Given the description of an element on the screen output the (x, y) to click on. 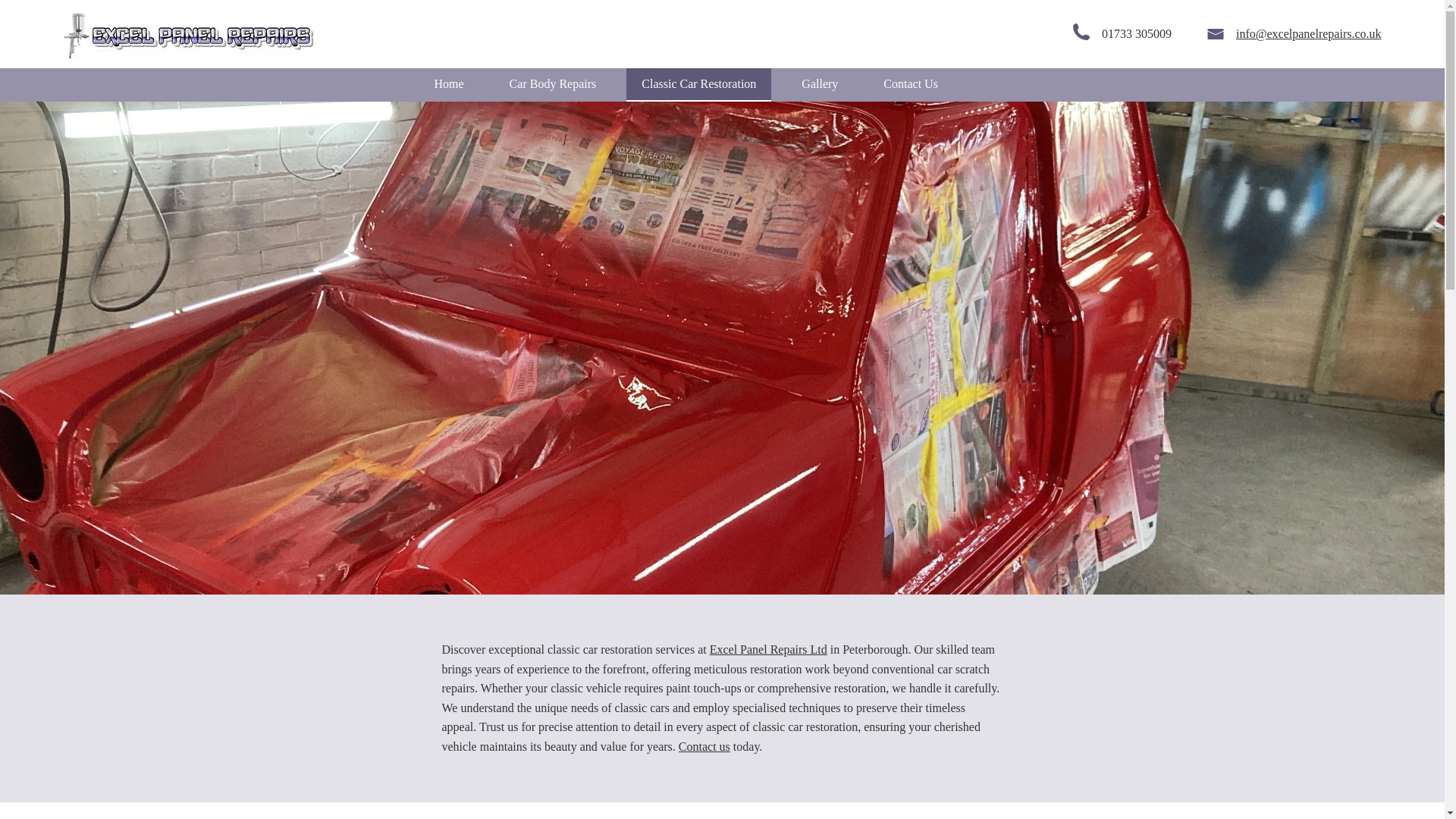
Excel Panel Repairs Ltd (768, 649)
Classic Car Restoration (698, 84)
Car Body Repairs (553, 84)
Gallery (819, 84)
Home (449, 84)
Contact Us (910, 84)
Contact us (704, 746)
